Given the description of an element on the screen output the (x, y) to click on. 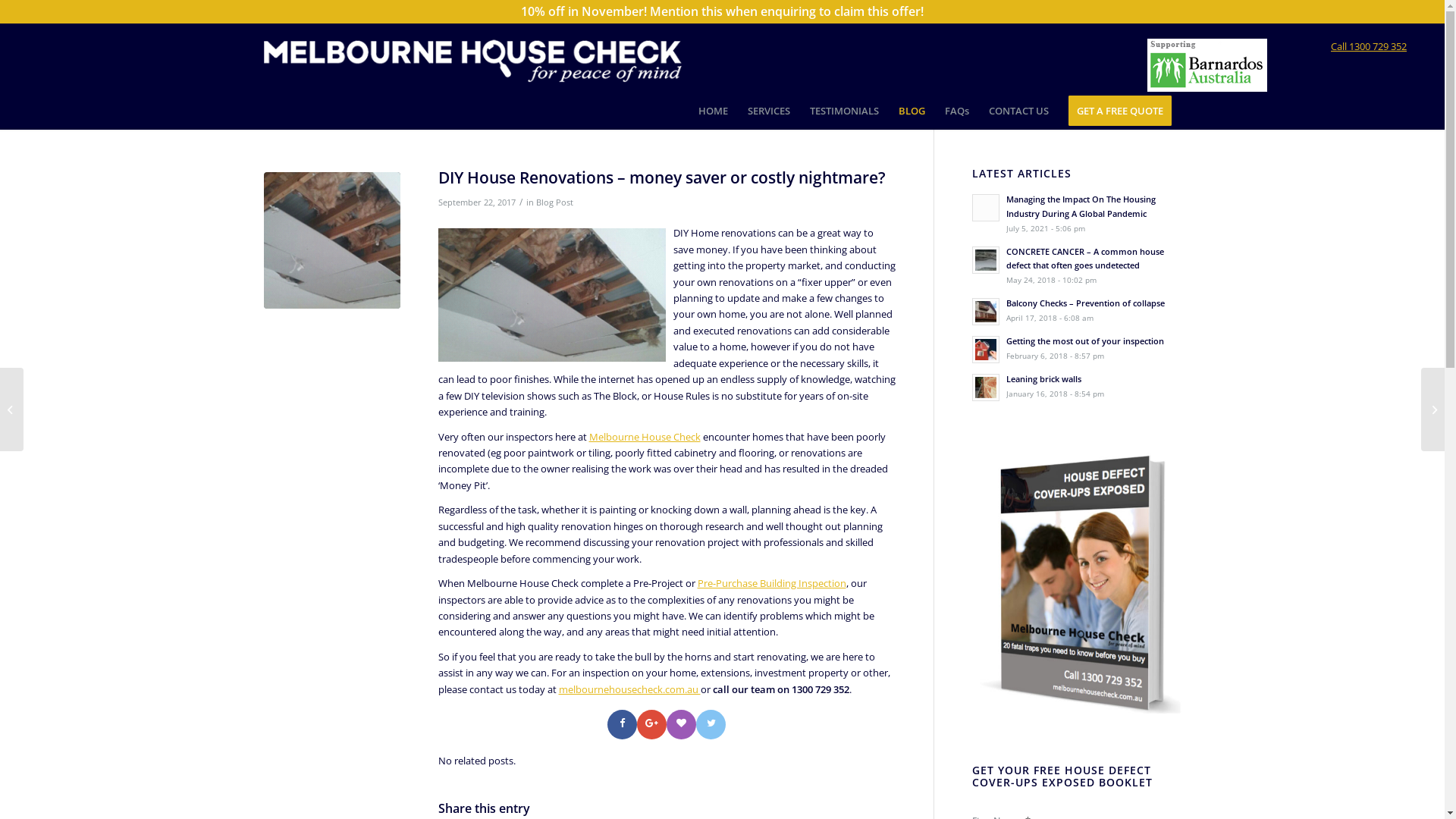
mhc_new_logo Element type: hover (472, 57)
Call 1300 729 352 Element type: text (1368, 46)
GET A FREE QUOTE Element type: text (1119, 110)
Melbourne House Check Element type: text (643, 436)
TESTIMONIALS Element type: text (843, 110)
SERVICES Element type: text (768, 110)
Leaning brick walls
January 16, 2018 - 8:54 pm Element type: text (1076, 385)
Twitter Element type: hover (710, 724)
melbournehousecheck.com.au Element type: text (628, 689)
Google+ Element type: hover (651, 724)
FAQs Element type: text (956, 110)
CONTACT US Element type: text (1017, 110)
Pre-Purchase Building Inspection Element type: text (771, 582)
Blog Post Element type: text (553, 202)
BLOG Element type: text (911, 110)
HOME Element type: text (712, 110)
Facebook Element type: hover (622, 724)
Like Element type: hover (681, 724)
DIY Roof - Melbourne House Check Element type: hover (331, 240)
